Given the description of an element on the screen output the (x, y) to click on. 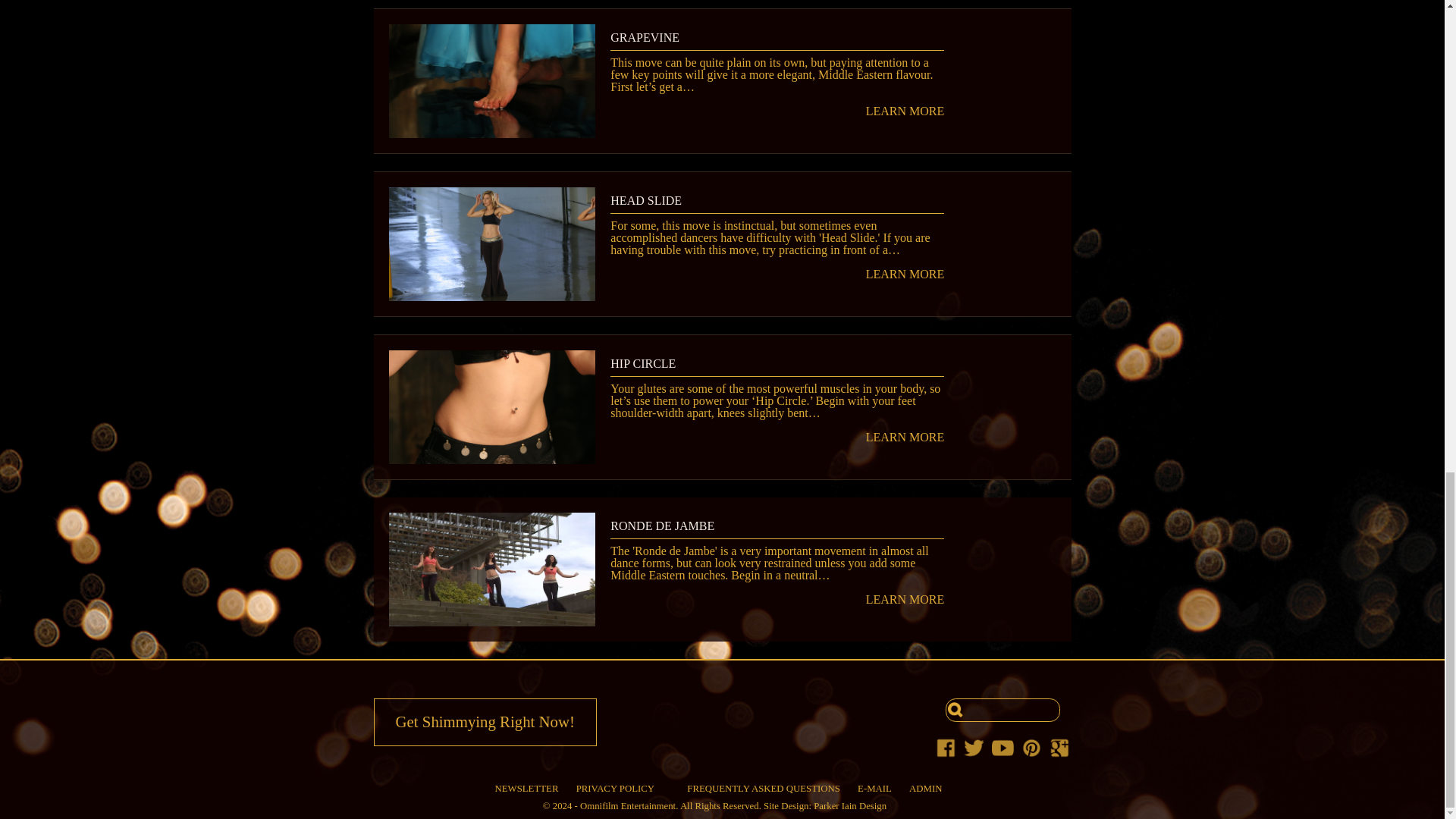
LEARN MORE (776, 599)
LEARN MORE (776, 437)
LEARN MORE (776, 274)
LEARN MORE (776, 111)
